Given the description of an element on the screen output the (x, y) to click on. 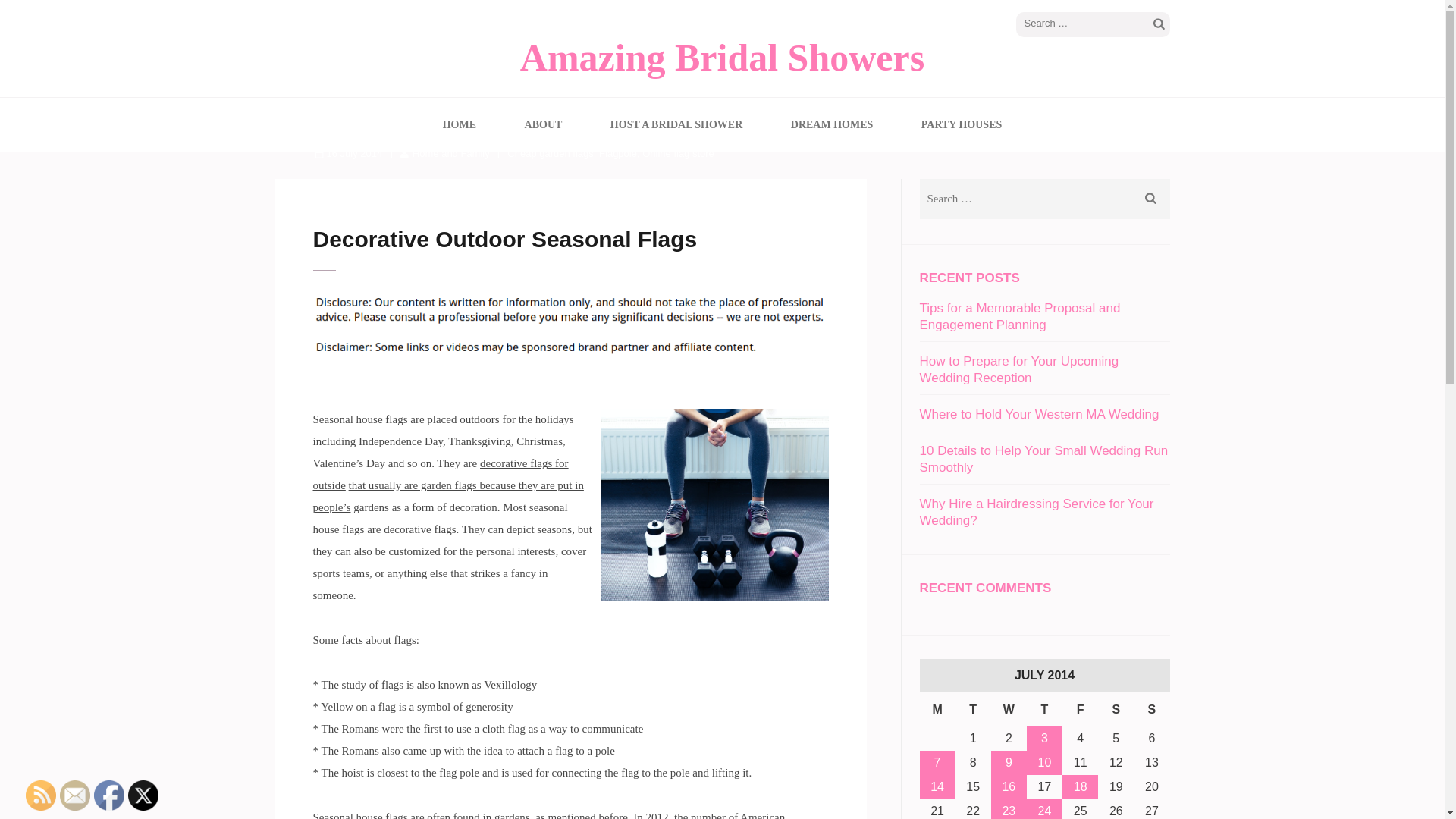
Search (1150, 199)
decorative flags for outside (440, 474)
RSS (41, 795)
Wednesday (1008, 709)
Facebook (108, 795)
10 Details to Help Your Small Wedding Run Smoothly (1042, 459)
Search (1158, 24)
DREAM HOMES (831, 124)
HOST A BRIDAL SHOWER (676, 124)
Saturday (1115, 709)
